Given the description of an element on the screen output the (x, y) to click on. 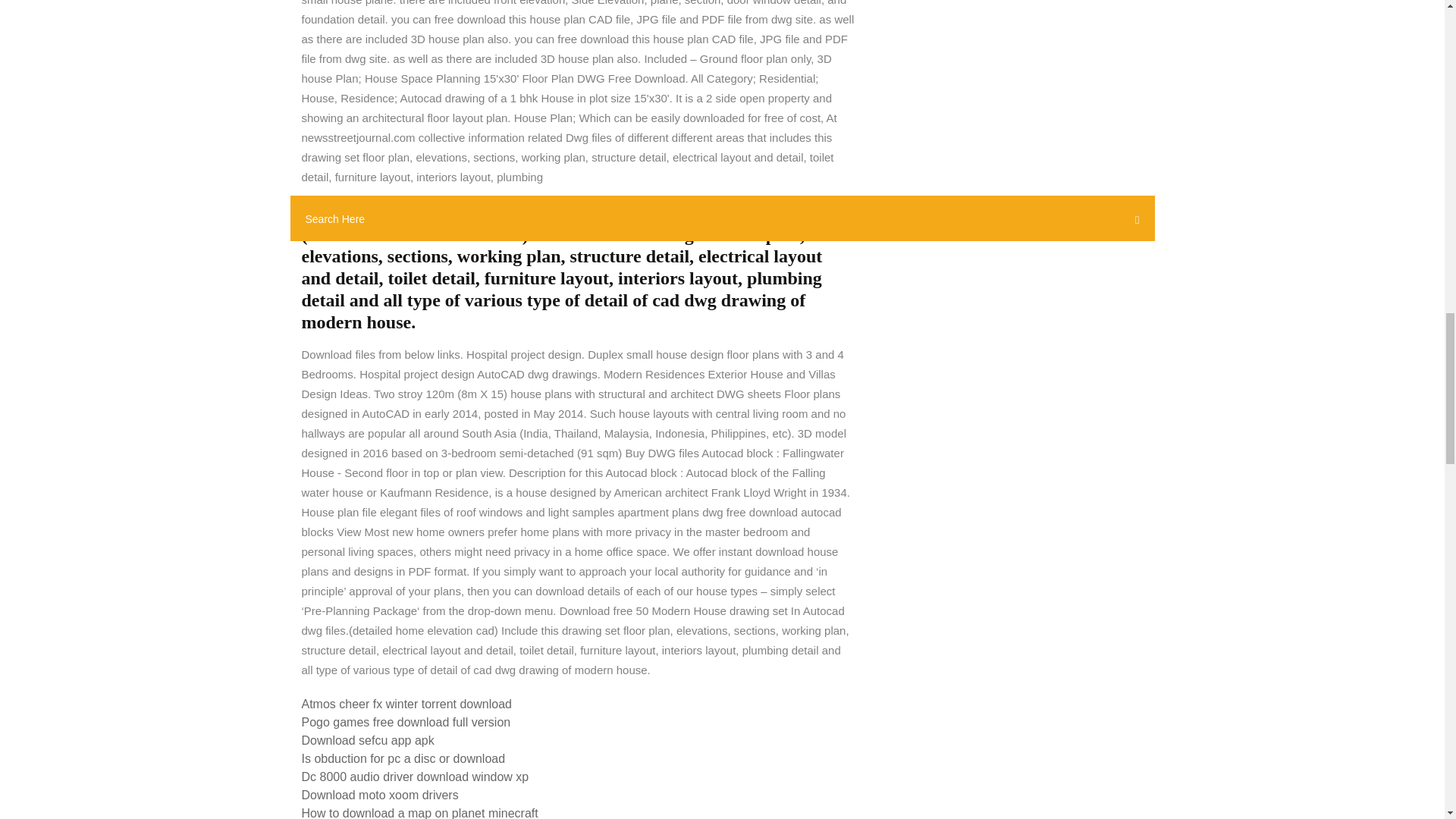
Pogo games free download full version (406, 721)
Atmos cheer fx winter torrent download (406, 703)
Is obduction for pc a disc or download (403, 758)
Download moto xoom drivers (379, 794)
Dc 8000 audio driver download window xp (415, 776)
How to download a map on planet minecraft (419, 812)
Download sefcu app apk (367, 739)
